Given the description of an element on the screen output the (x, y) to click on. 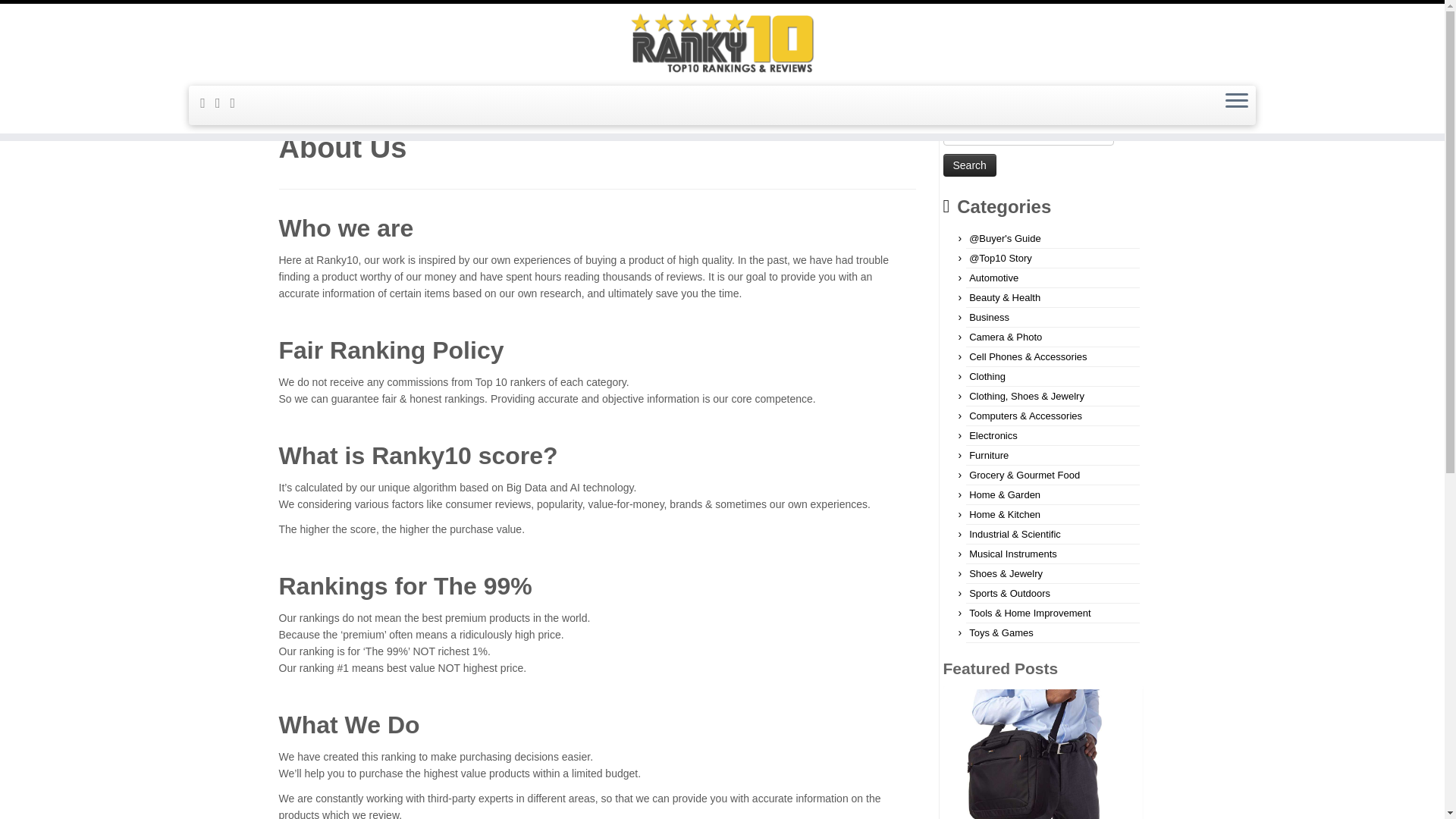
Follow us on Facebook (222, 102)
Subscribe to my rss feed (207, 102)
Ranky10 (293, 105)
Home (293, 105)
Business (989, 317)
Clothing (987, 376)
Open the menu (1236, 101)
Musical Instruments (1013, 553)
Automotive (993, 277)
Search (969, 164)
Search (969, 164)
Furniture (989, 455)
Follow us on Twitter (238, 102)
Electronics (993, 435)
